Given the description of an element on the screen output the (x, y) to click on. 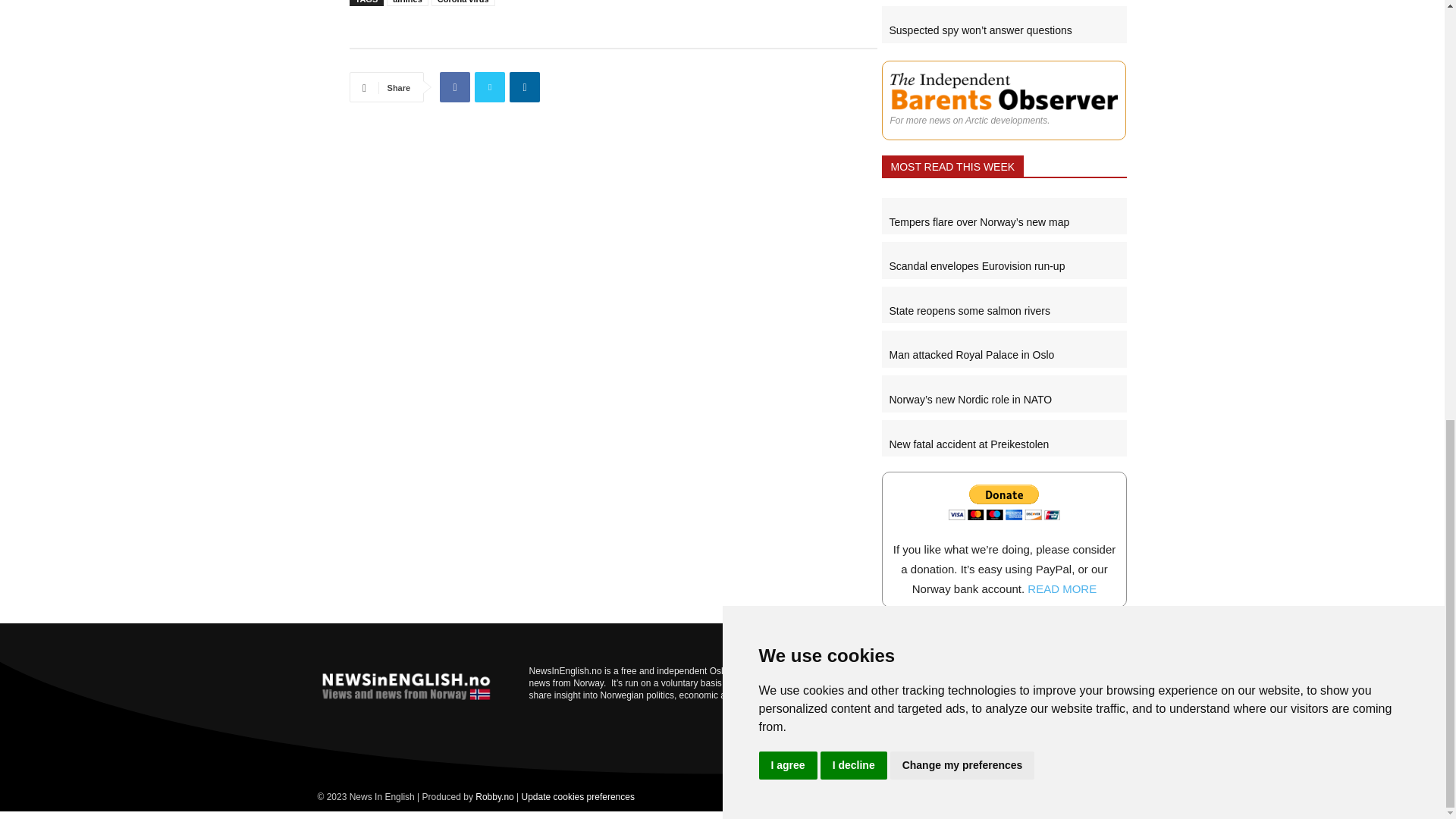
Linkedin (524, 87)
Twitter (489, 87)
Facebook (454, 87)
